Given the description of an element on the screen output the (x, y) to click on. 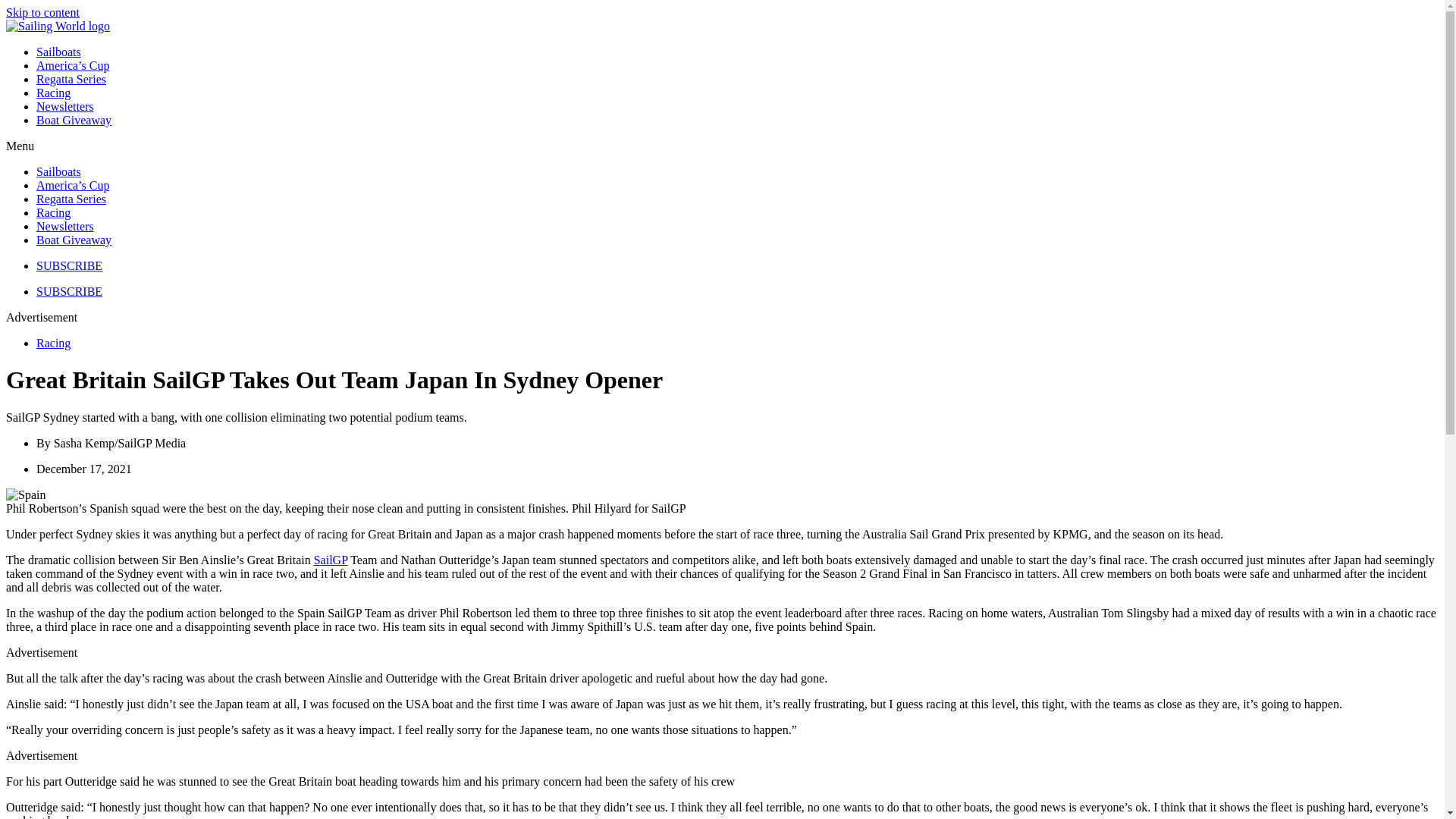
Sailboats (58, 51)
Racing (52, 212)
Racing (52, 92)
Newsletters (65, 106)
Skip to content (42, 11)
Sailboats (58, 171)
Boat Giveaway (74, 239)
Regatta Series (71, 78)
Boat Giveaway (74, 119)
Newsletters (65, 226)
